Given the description of an element on the screen output the (x, y) to click on. 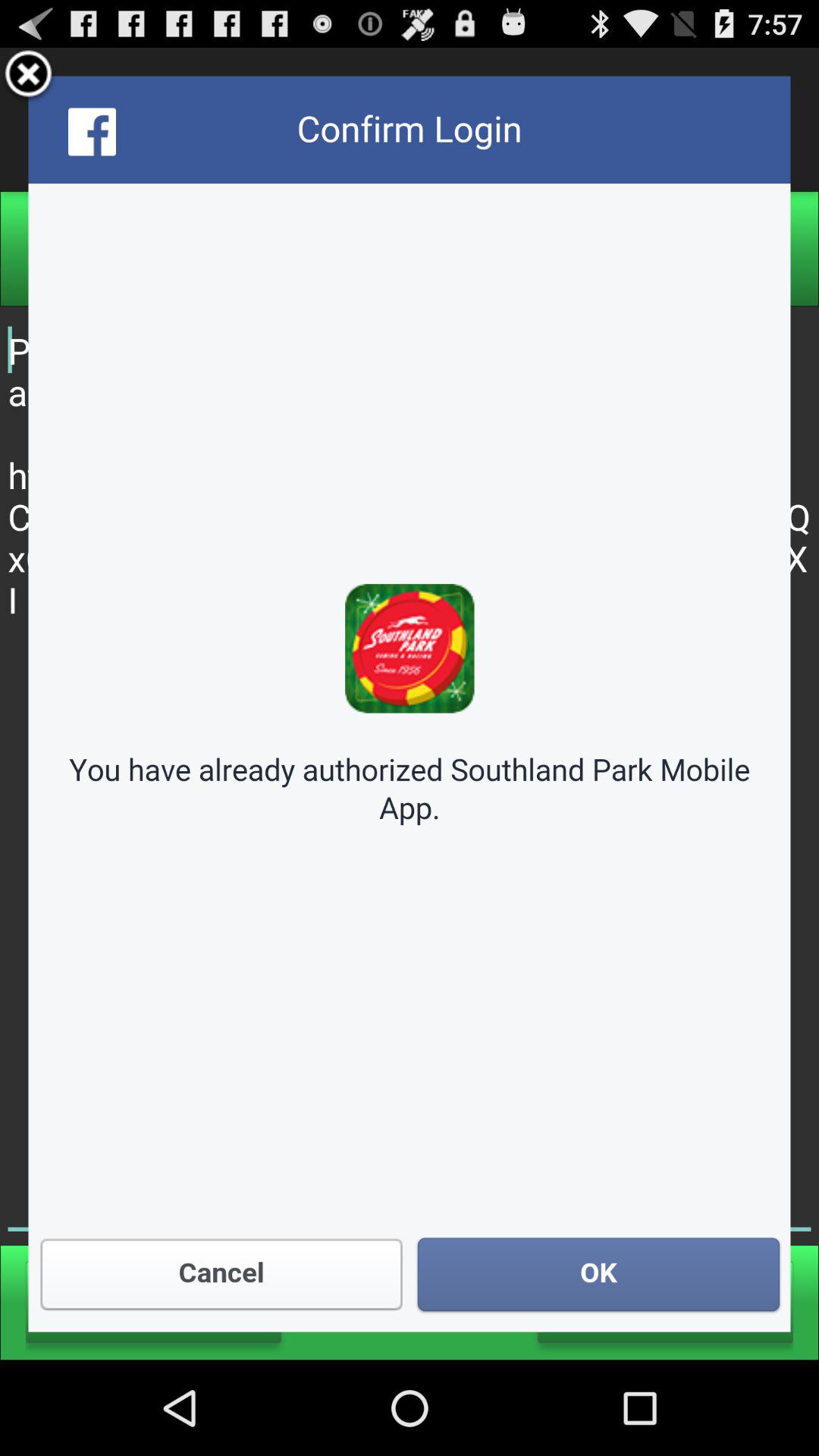
confirm app login with facebook (409, 704)
